Given the description of an element on the screen output the (x, y) to click on. 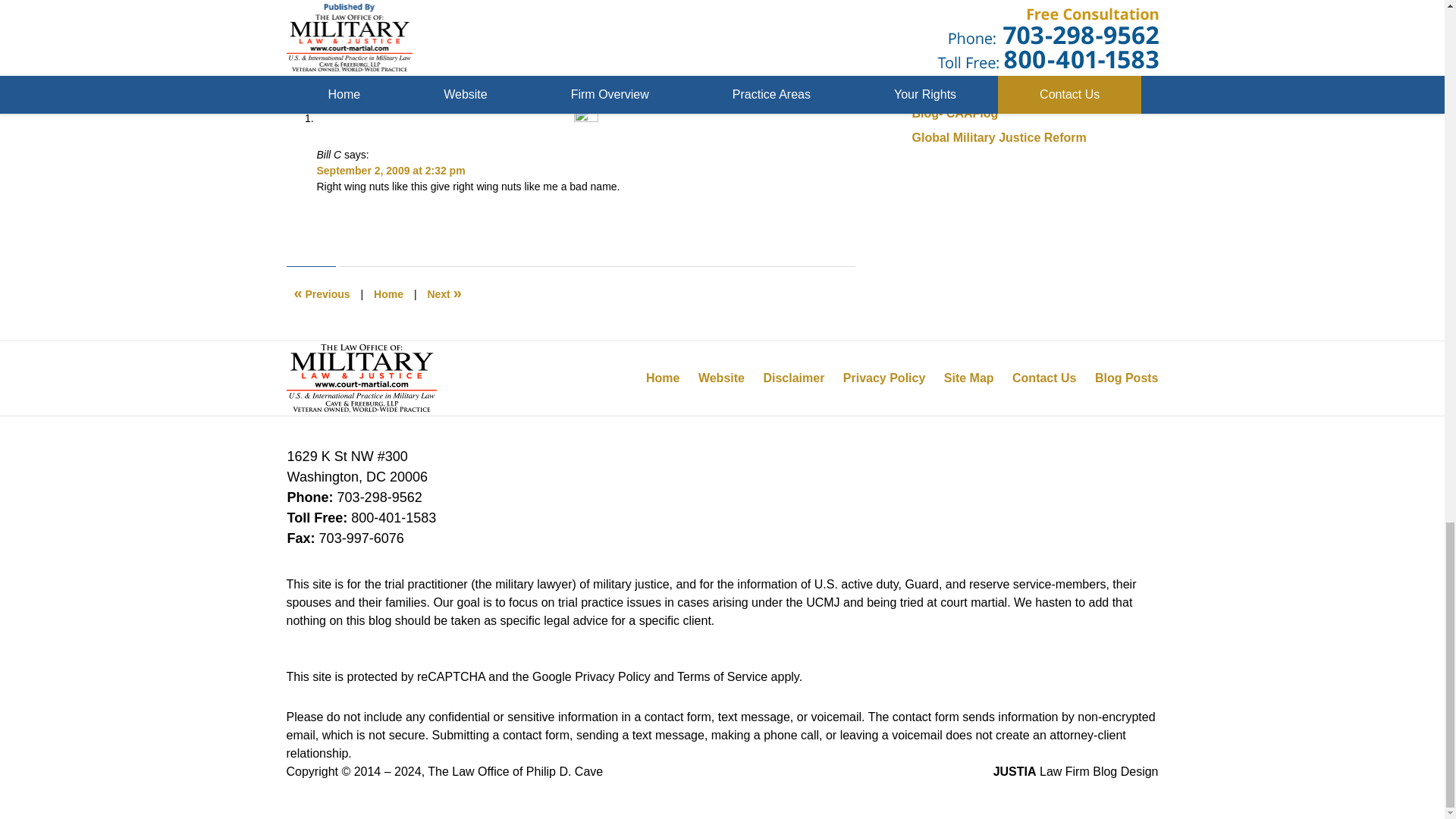
Allusions and comparisons to MJ. (322, 293)
September 2, 2009 at 2:32 pm (391, 170)
Home (388, 293)
